Given the description of an element on the screen output the (x, y) to click on. 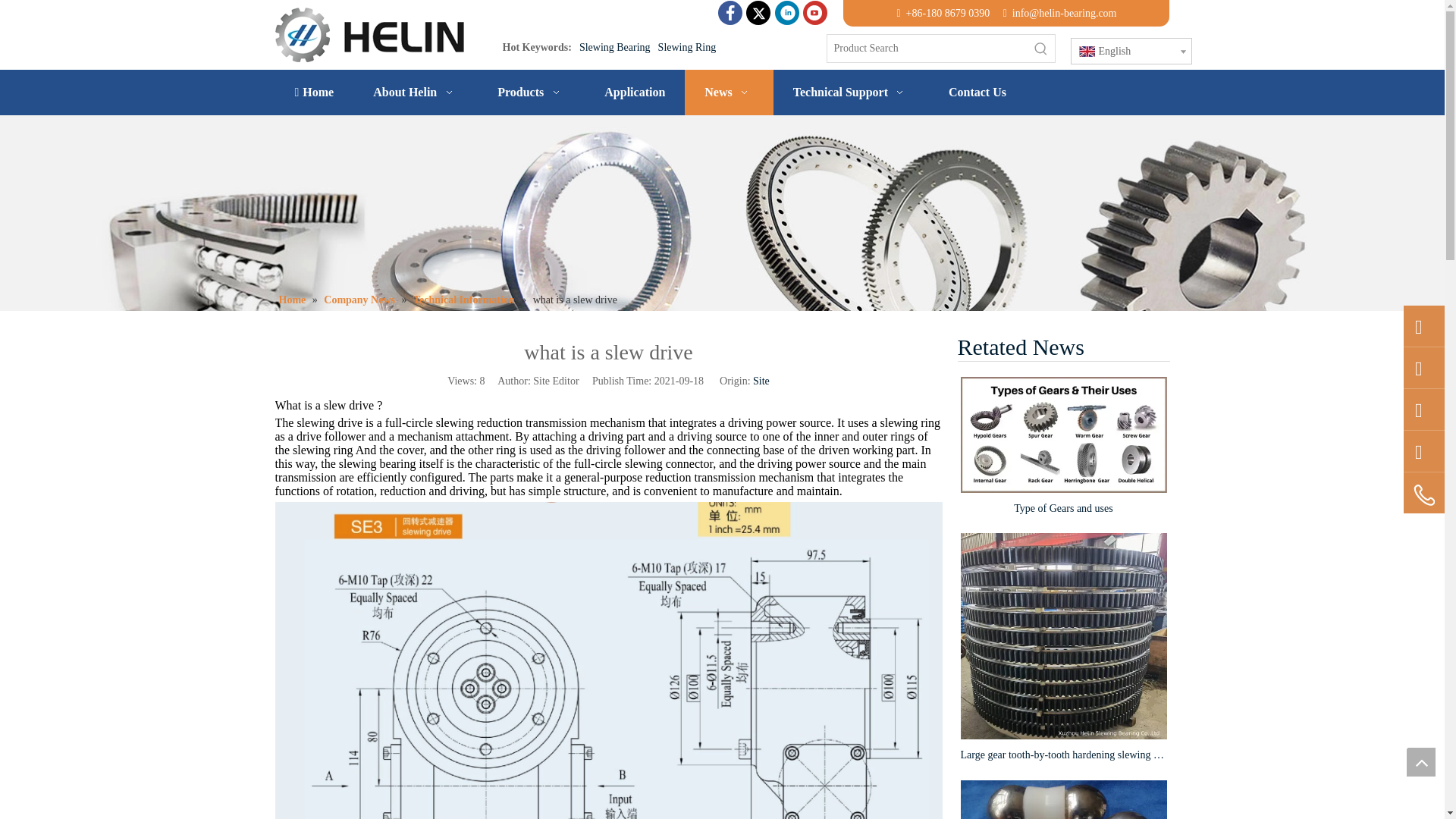
Type of Gears and uses  (1062, 507)
Technical Support   (850, 92)
Youtube (815, 12)
Large gear tooth-by-tooth hardening slewing rings (1062, 636)
Home (314, 92)
Products   (531, 92)
Linkedin (786, 12)
Slewing Ring (687, 47)
Application (634, 92)
Type of Gears and uses  (1062, 434)
Large gear tooth-by-tooth hardening slewing rings (1062, 754)
About Helin   (415, 92)
Contact Us (977, 92)
Slewing Bearing (614, 47)
